Given the description of an element on the screen output the (x, y) to click on. 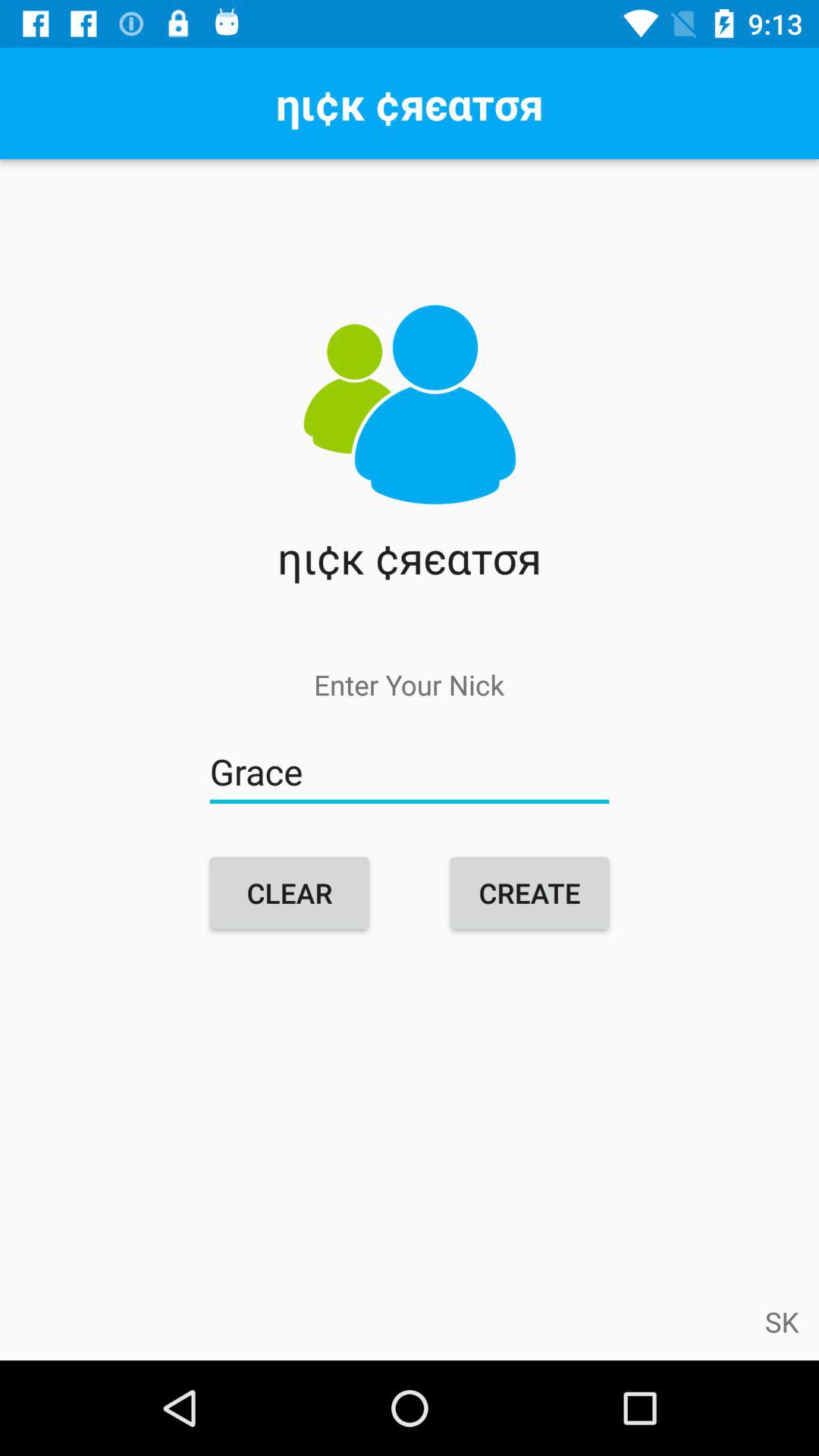
choose the icon below the enter your nick (409, 772)
